Given the description of an element on the screen output the (x, y) to click on. 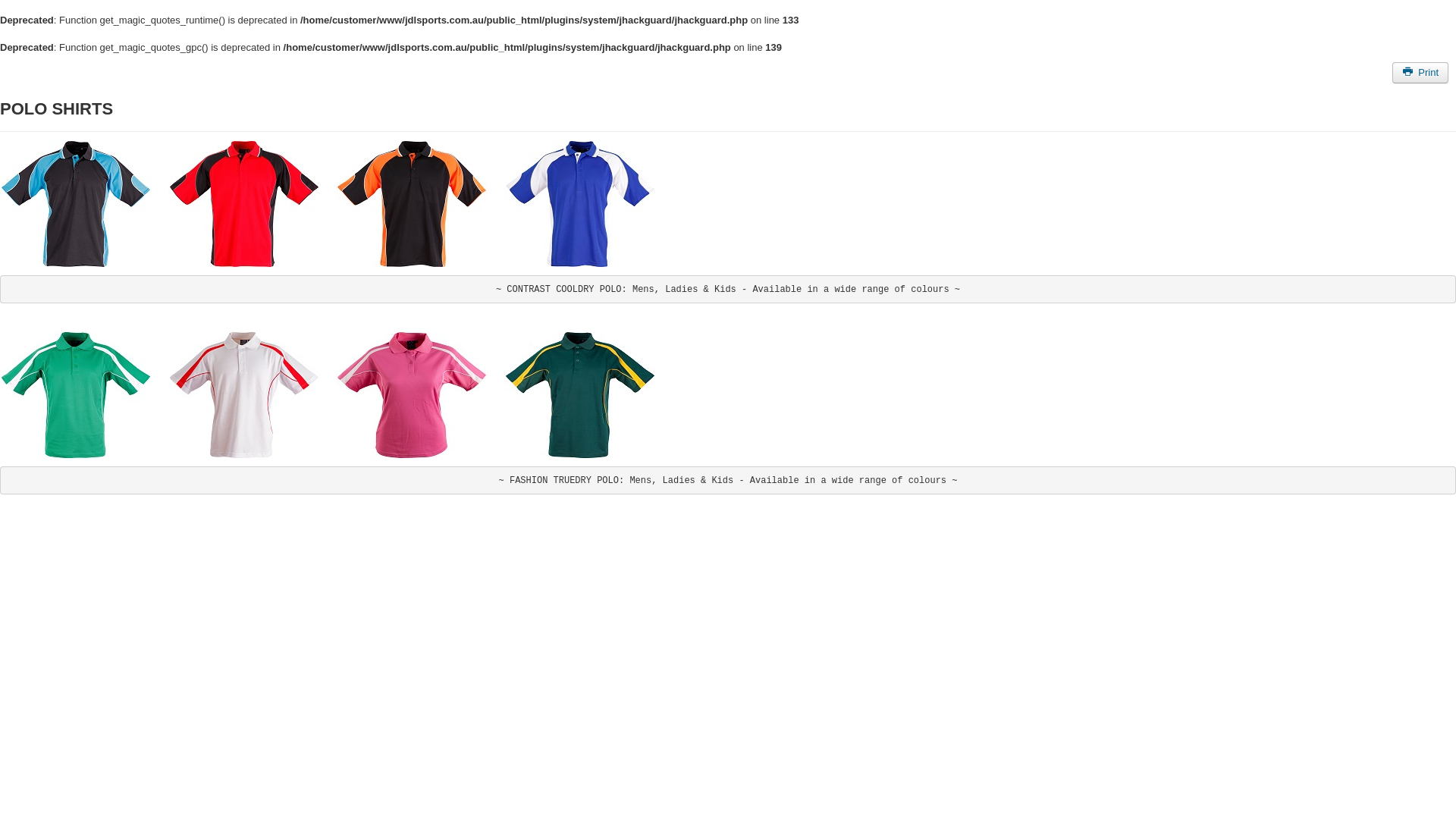
Print Element type: text (1420, 72)
